Given the description of an element on the screen output the (x, y) to click on. 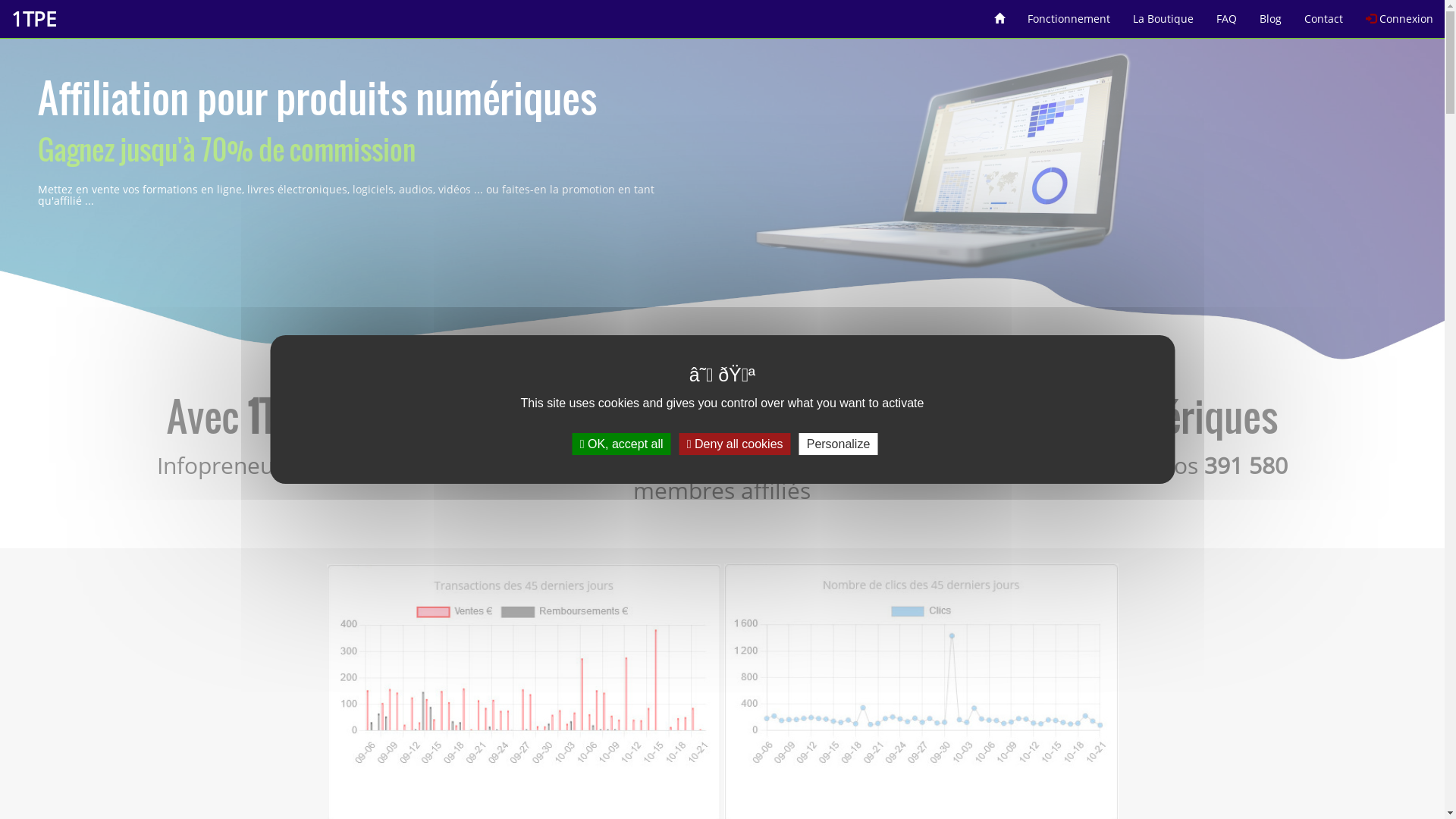
Blog Element type: text (1270, 13)
1TPE Element type: text (33, 18)
Fonctionnement Element type: text (1068, 13)
OK, accept all Element type: text (621, 444)
FAQ Element type: text (1226, 13)
Personalize Element type: text (838, 444)
Connexion Element type: text (1399, 13)
Contact Element type: text (1323, 13)
Deny all cookies Element type: text (734, 444)
La Boutique Element type: text (1162, 13)
